Given the description of an element on the screen output the (x, y) to click on. 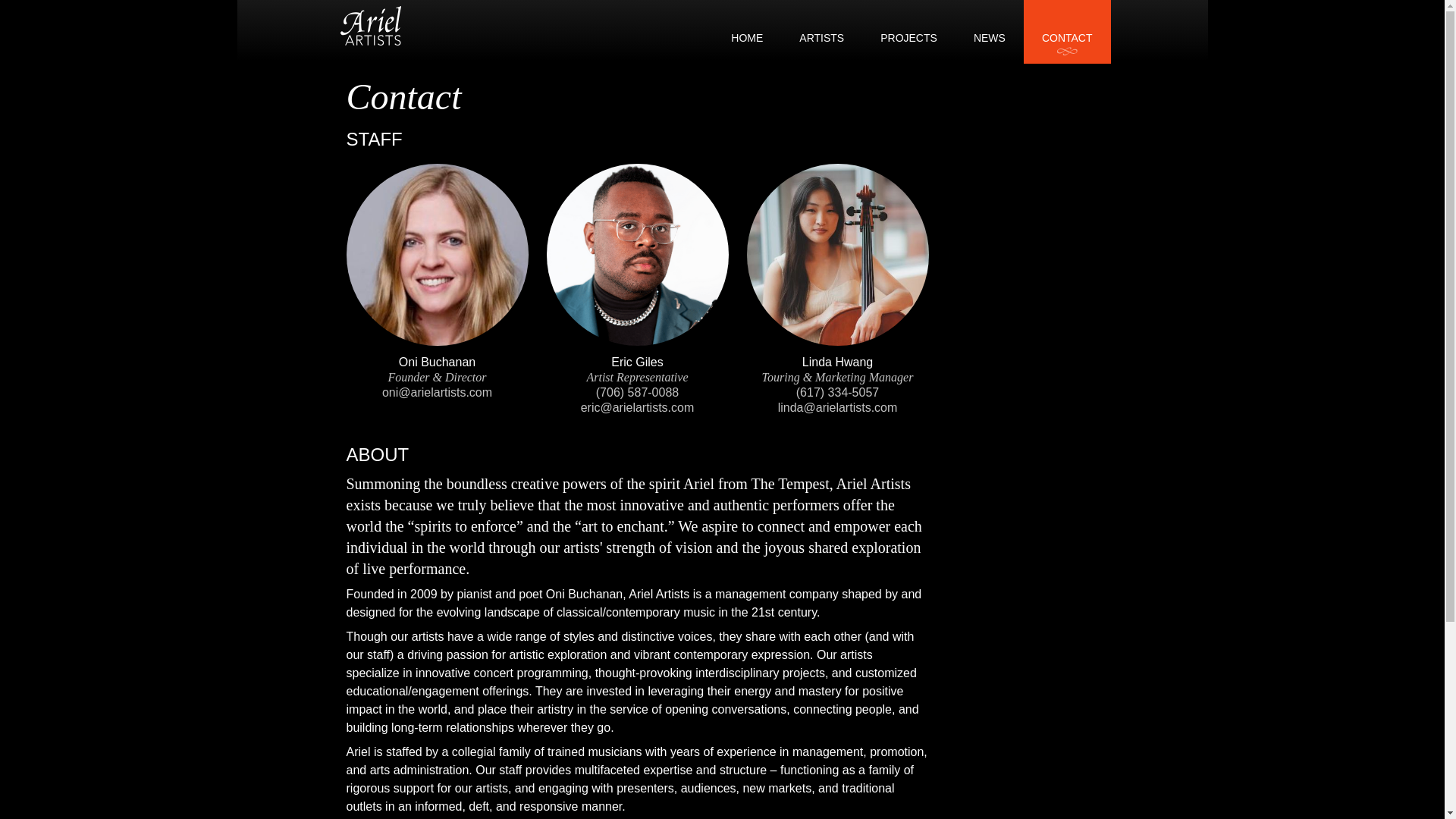
HOME (746, 37)
ARTISTS (821, 37)
NEWS (990, 37)
CONTACT (1067, 37)
PROJECTS (908, 37)
